Given the description of an element on the screen output the (x, y) to click on. 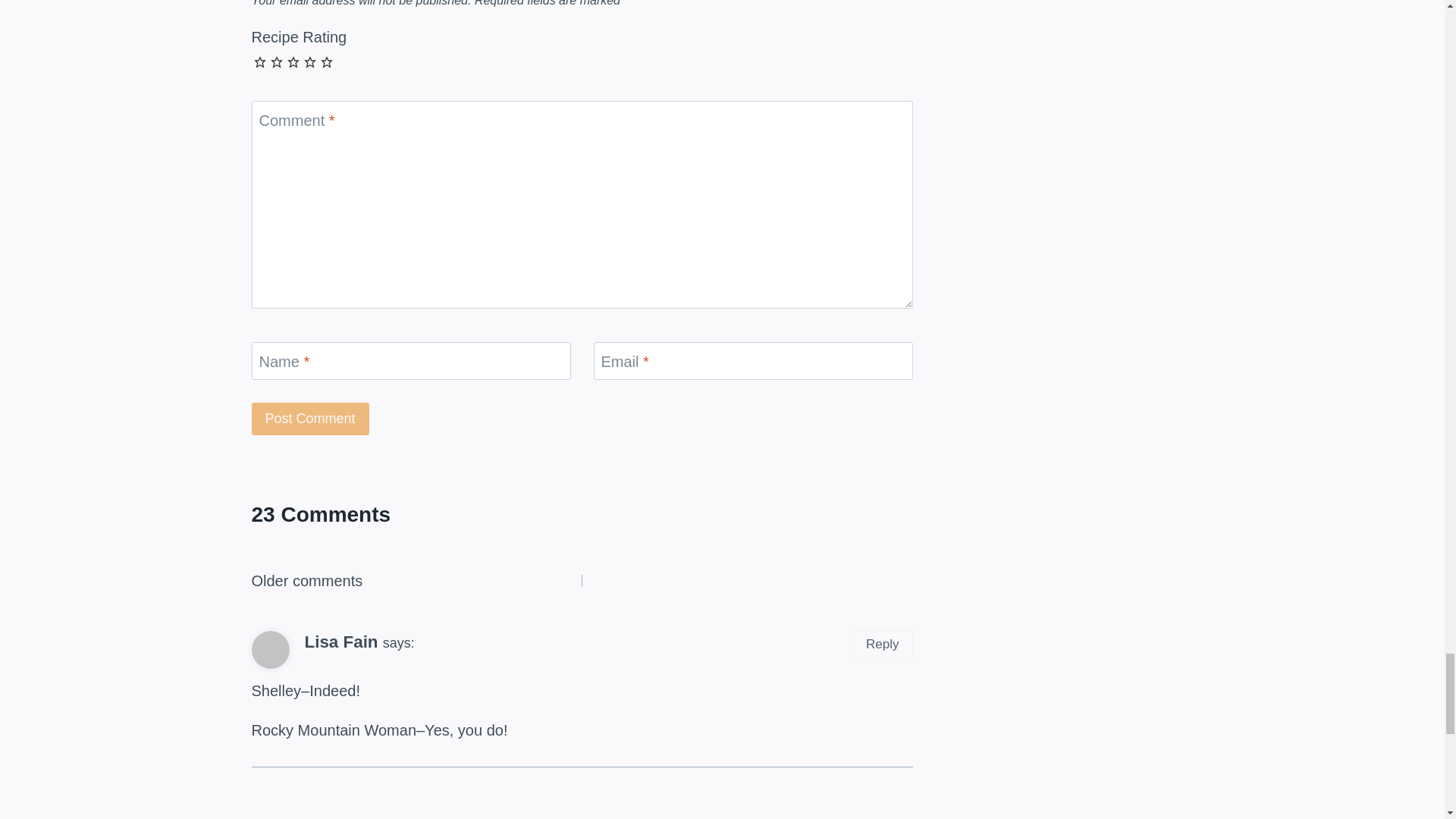
Post Comment (310, 418)
